Given the description of an element on the screen output the (x, y) to click on. 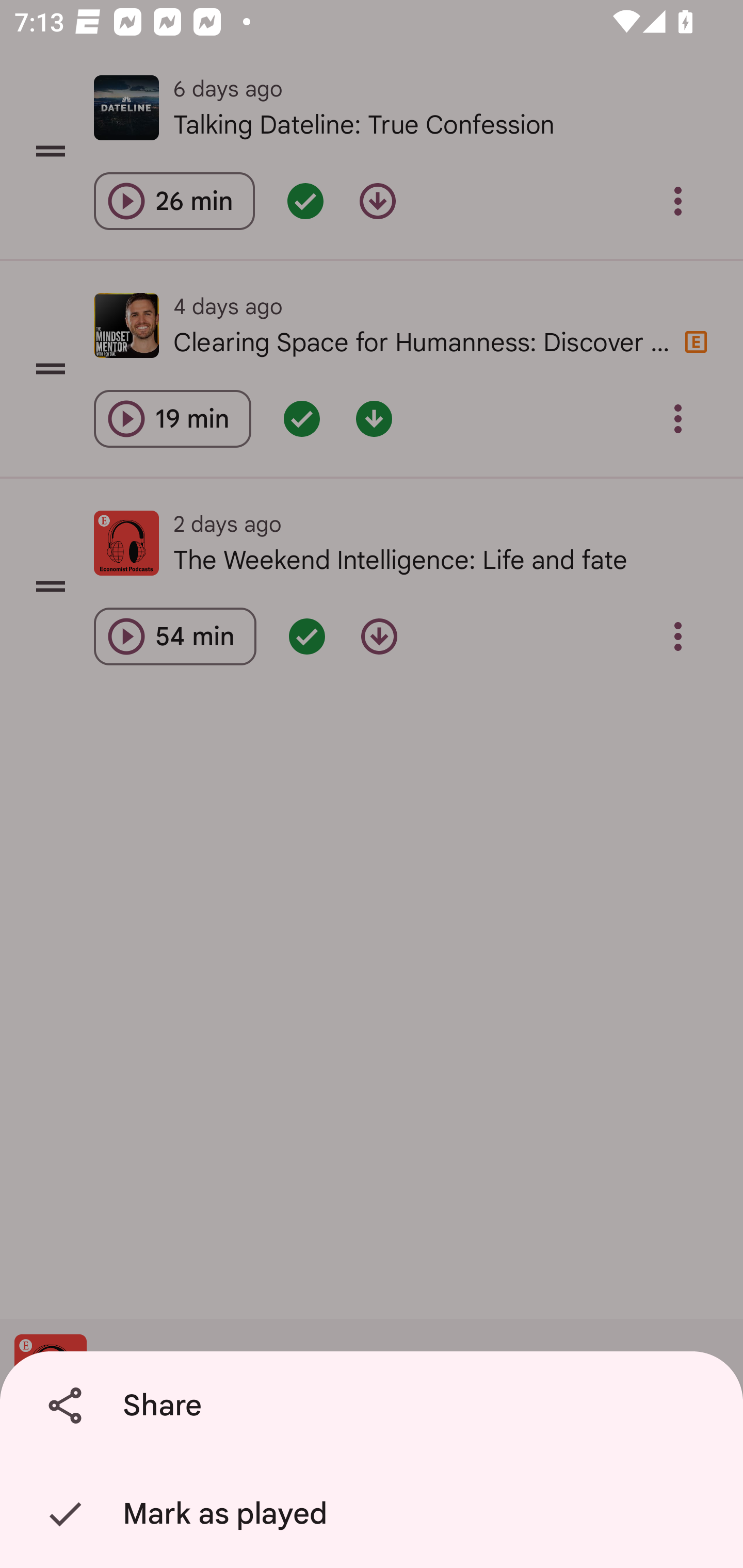
Share (375, 1405)
Mark as played (375, 1513)
